Given the description of an element on the screen output the (x, y) to click on. 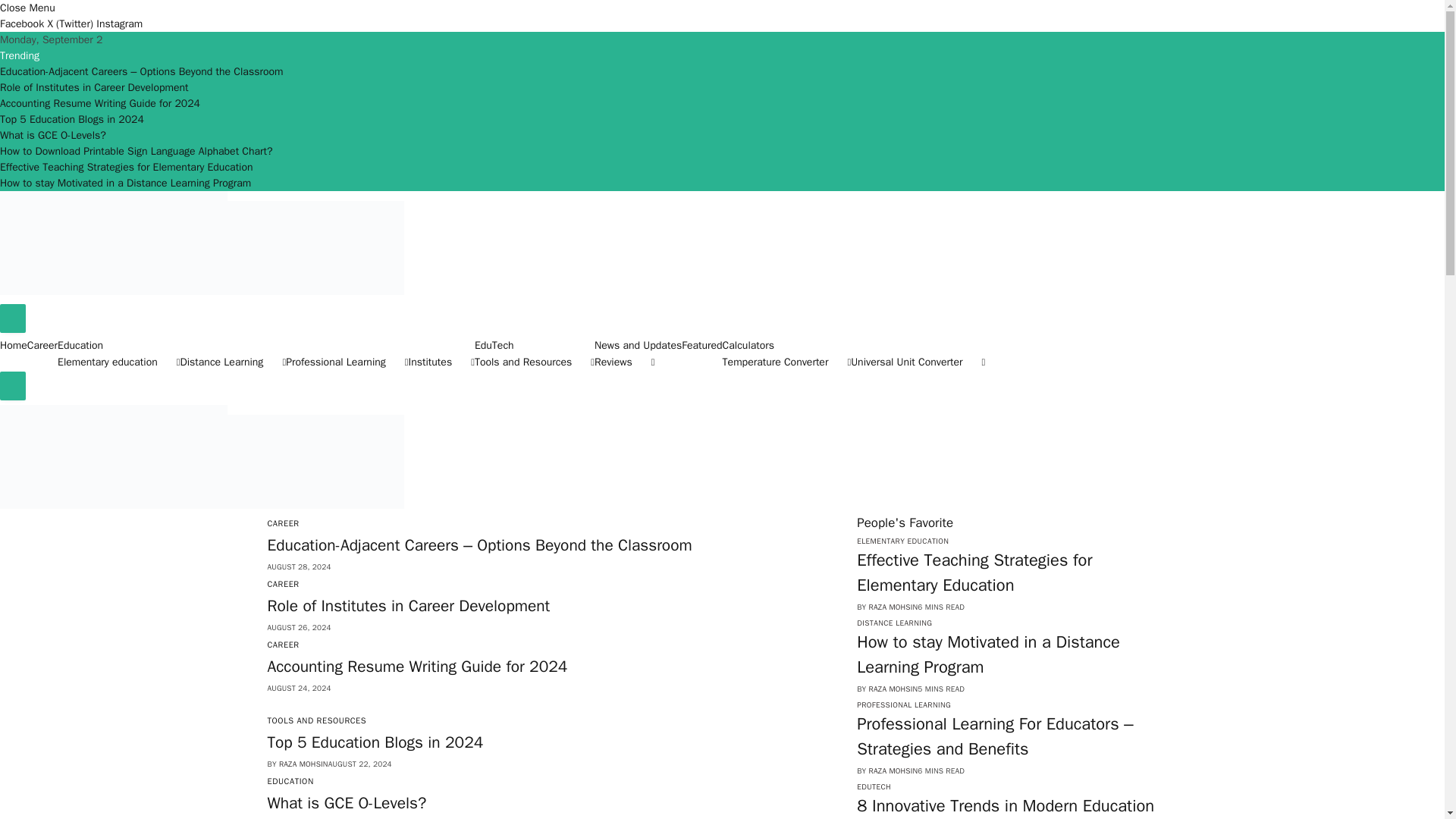
Career (42, 345)
Role of Institutes in Career Development (94, 87)
Calculators (748, 345)
Temperature Converter (786, 362)
News and Updates (637, 345)
Education (80, 345)
Institutes (441, 362)
CAREER (282, 583)
Facebook (23, 23)
